Given the description of an element on the screen output the (x, y) to click on. 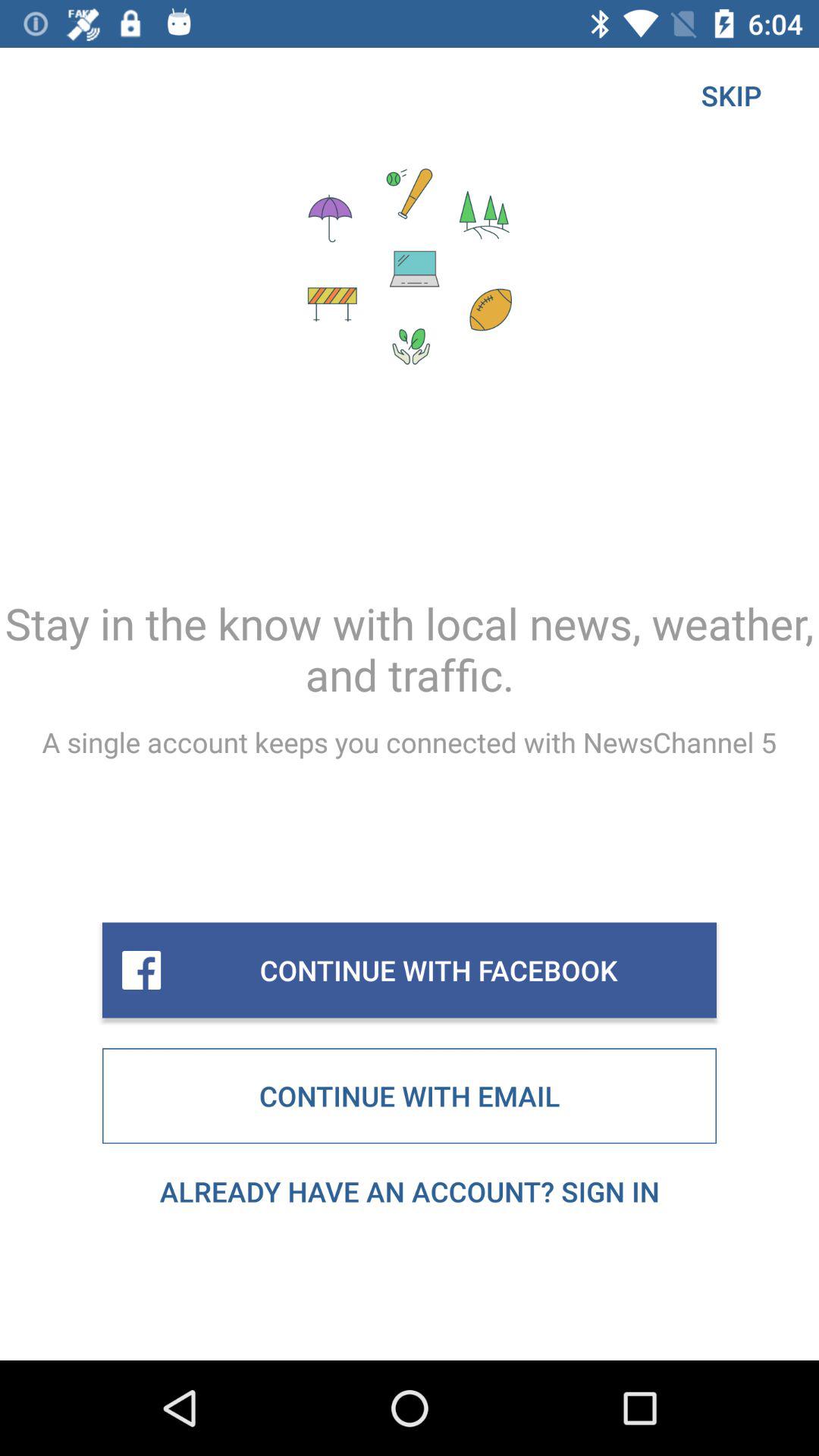
launch already have an item (409, 1191)
